Given the description of an element on the screen output the (x, y) to click on. 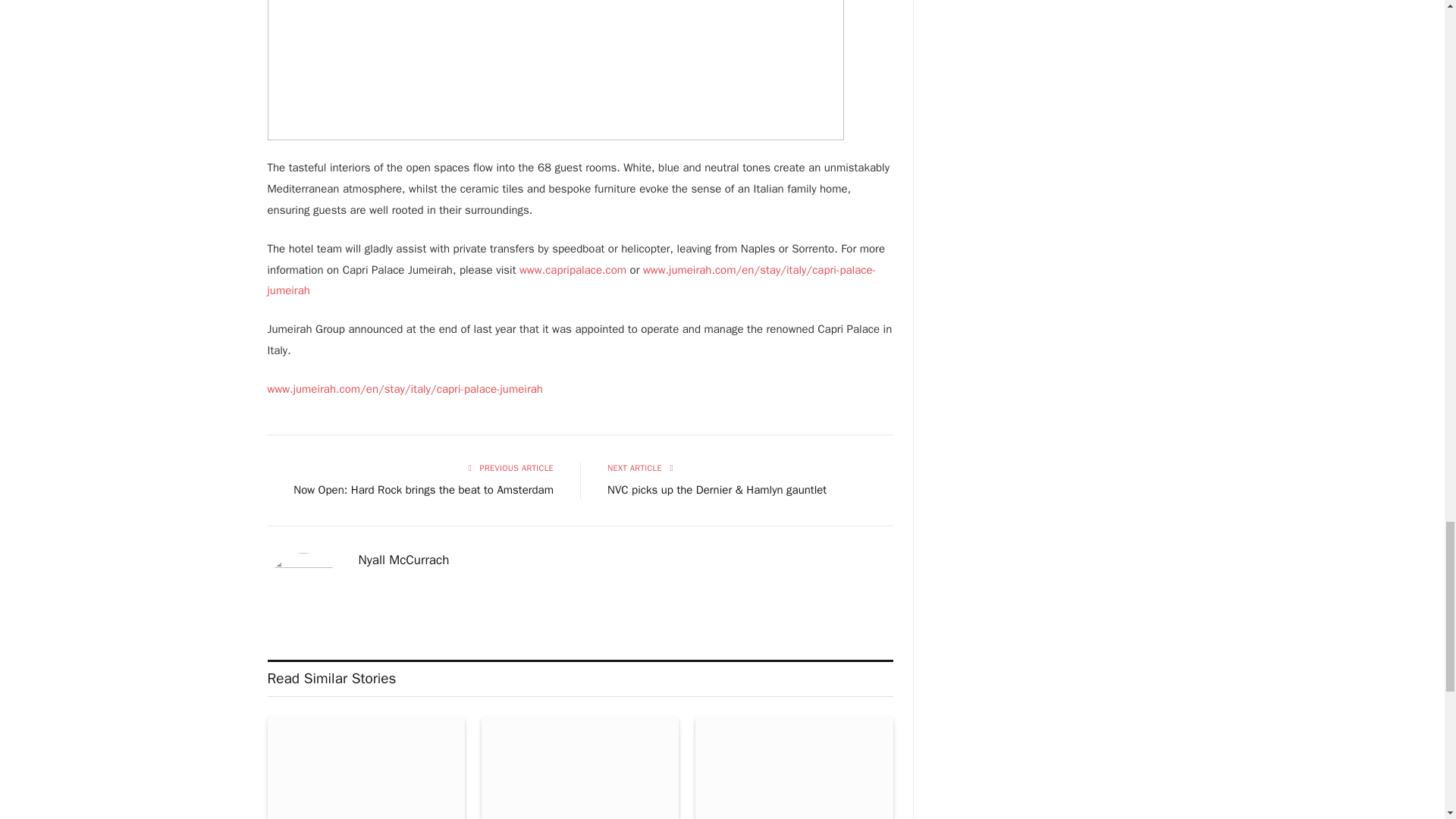
AB Concept unveils design for Ritz-Carlton Tokyo Lounge (793, 767)
Posts by Nyall McCurrach (403, 560)
